Given the description of an element on the screen output the (x, y) to click on. 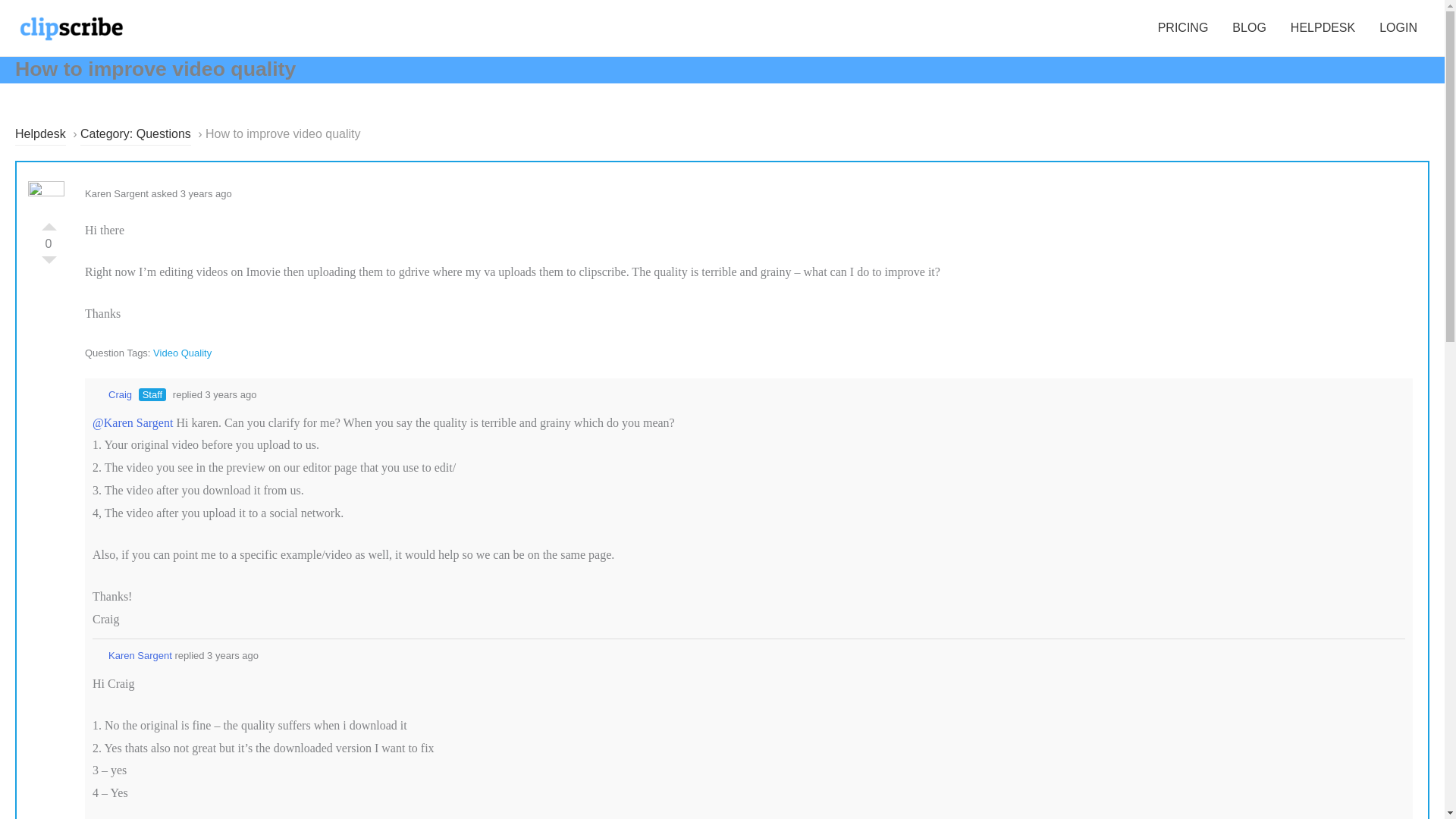
Helpdesk (39, 134)
Karen Sargent (132, 655)
BLOG (1249, 28)
LOGIN (1398, 28)
Vote Up (49, 222)
Vote Down (49, 263)
Category: Questions (135, 134)
Video Quality (181, 352)
HELPDESK (1322, 28)
PRICING (1183, 28)
